Given the description of an element on the screen output the (x, y) to click on. 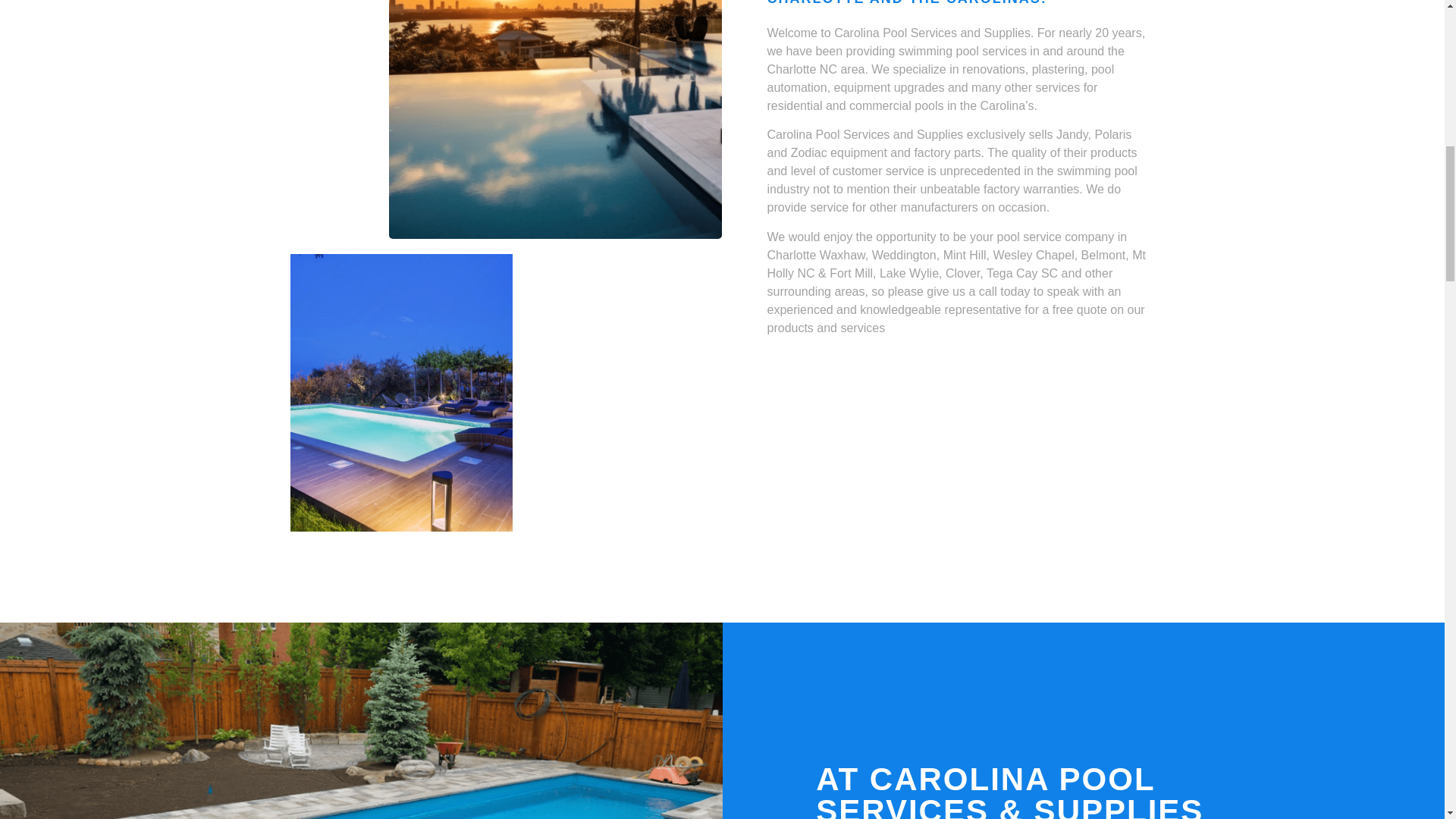
provide2 (554, 119)
